Given the description of an element on the screen output the (x, y) to click on. 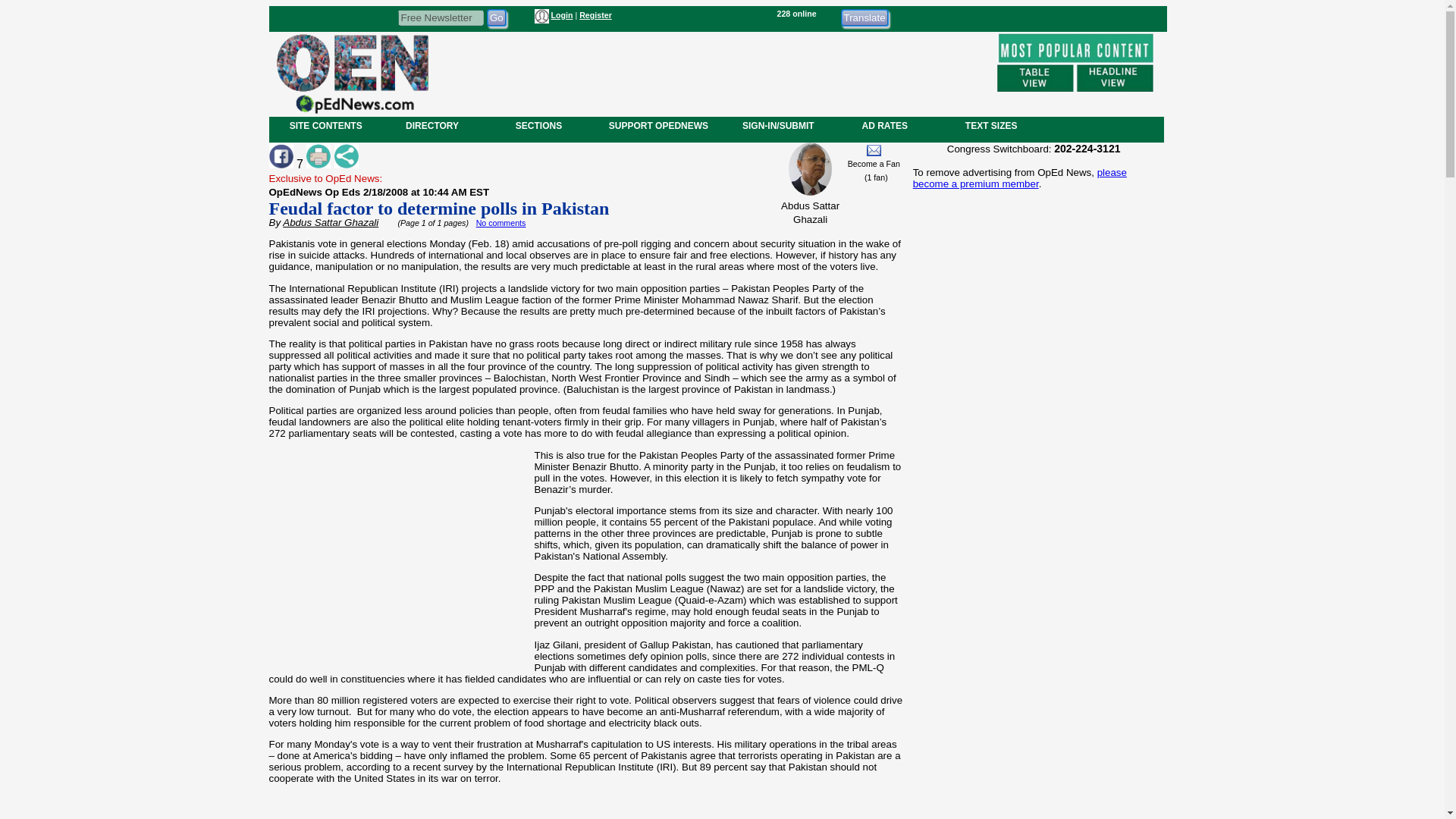
Advertisement (586, 806)
SITE CONTENTS (325, 125)
Translate (864, 17)
Abdus Sattar Ghazali (330, 222)
Message Abdus Sattar Ghazali (873, 150)
Advertisement (397, 567)
SUPPORT OPEDNEWS (658, 125)
Free Newsletter (440, 17)
Become a Fan (873, 163)
Register (595, 14)
Printer Friendly Page (317, 156)
Advertisement (1032, 702)
DIRECTORY (431, 125)
No comments (500, 222)
Translate (864, 17)
